Given the description of an element on the screen output the (x, y) to click on. 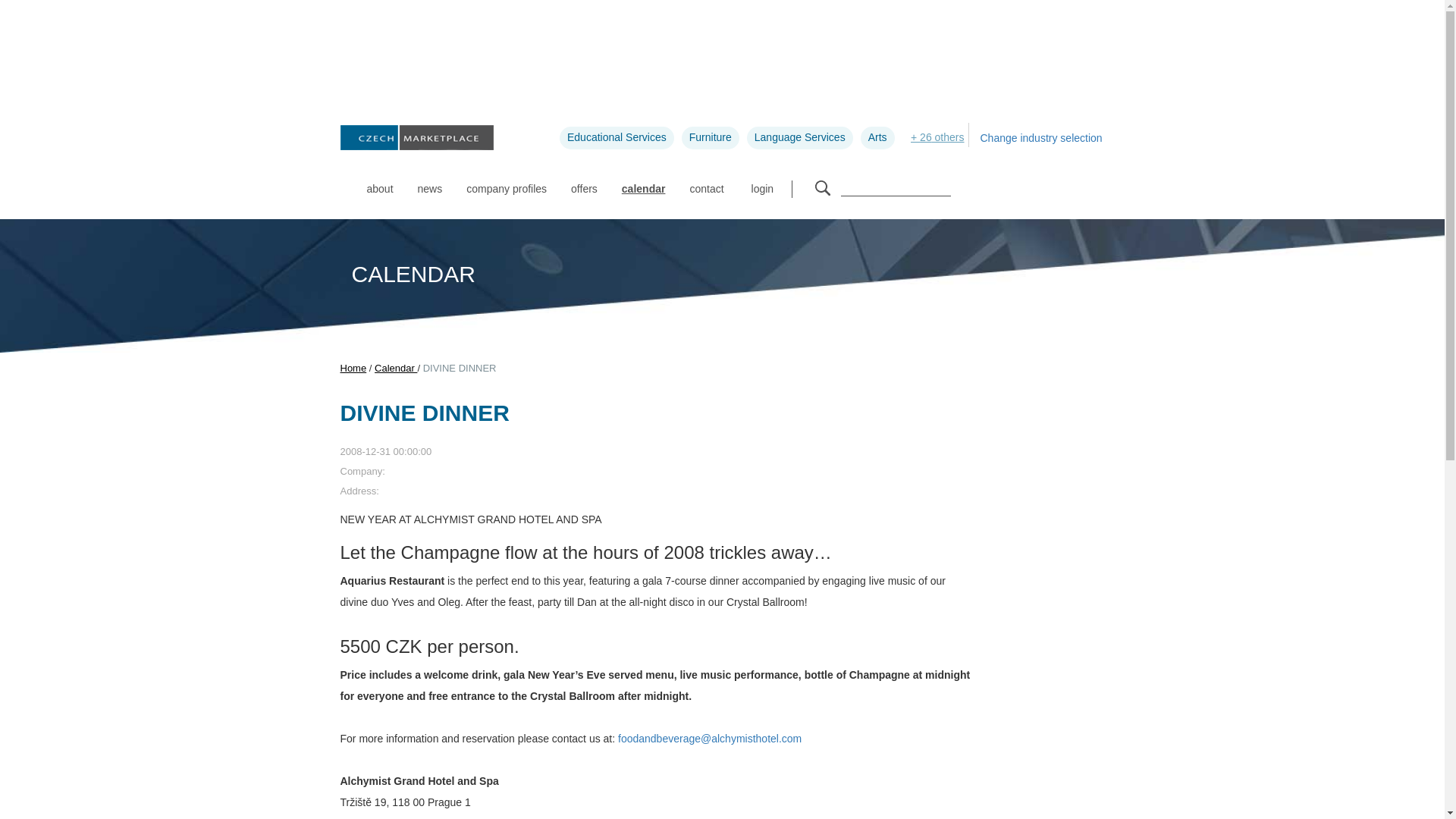
Home (352, 367)
Change industry selection (1041, 137)
Calendar (395, 367)
calendar (644, 180)
contact (706, 180)
news (430, 180)
login (771, 188)
company profiles (506, 180)
offers (584, 180)
Search (822, 187)
